Given the description of an element on the screen output the (x, y) to click on. 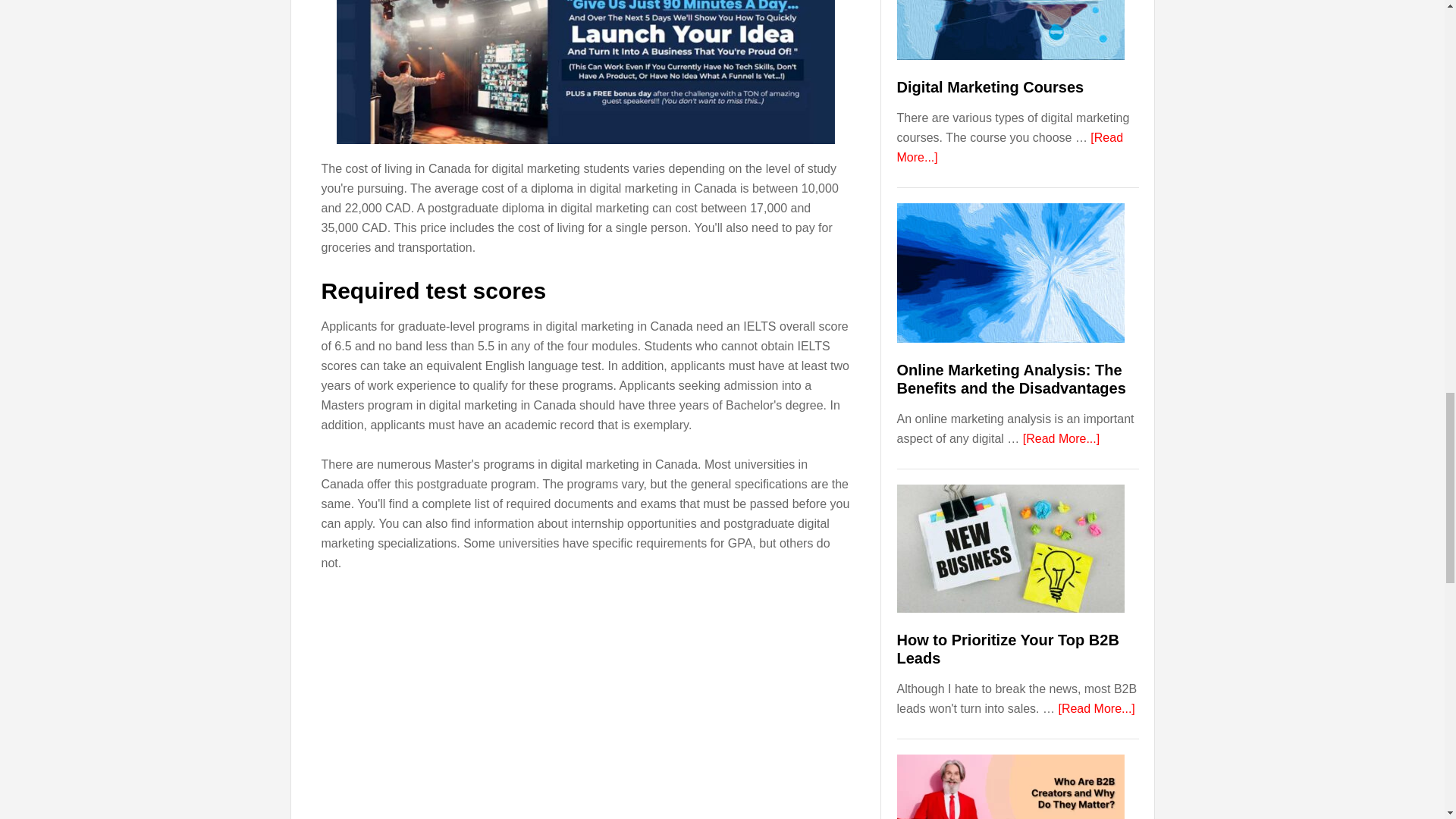
Digital Marketing Courses (989, 86)
How to Prioritize Your Top B2B Leads (1007, 648)
